Given the description of an element on the screen output the (x, y) to click on. 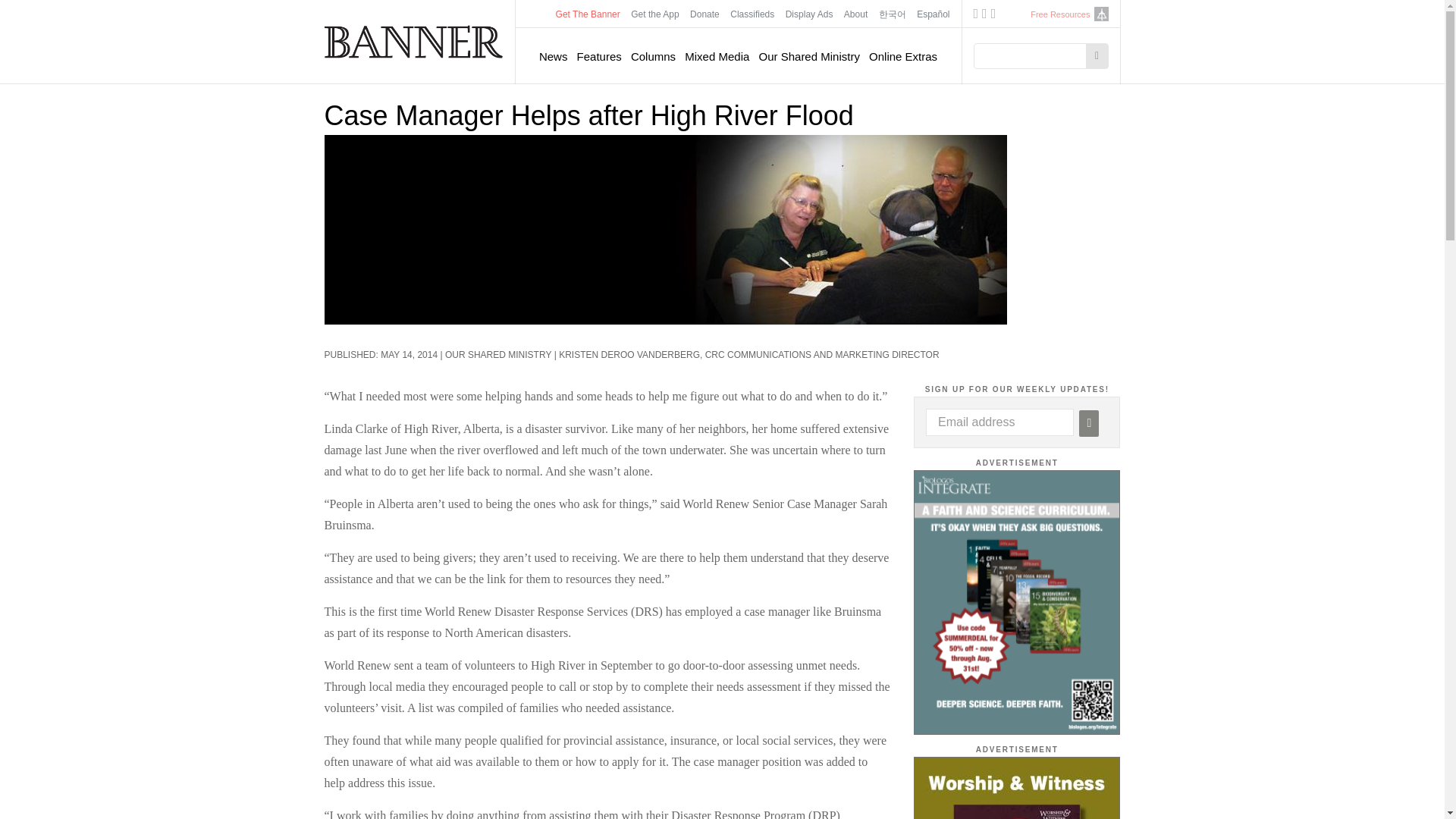
Online Extras (903, 56)
Features (598, 56)
crcna.org (1100, 13)
Enter the terms you wish to search for. (1035, 55)
Donate (704, 14)
Home (413, 41)
Classifieds (751, 14)
OUR SHARED MINISTRY (498, 354)
Get The Banner (587, 14)
Mixed Media (716, 56)
Get the App (654, 14)
Columns (652, 56)
Search (1097, 55)
